Given the description of an element on the screen output the (x, y) to click on. 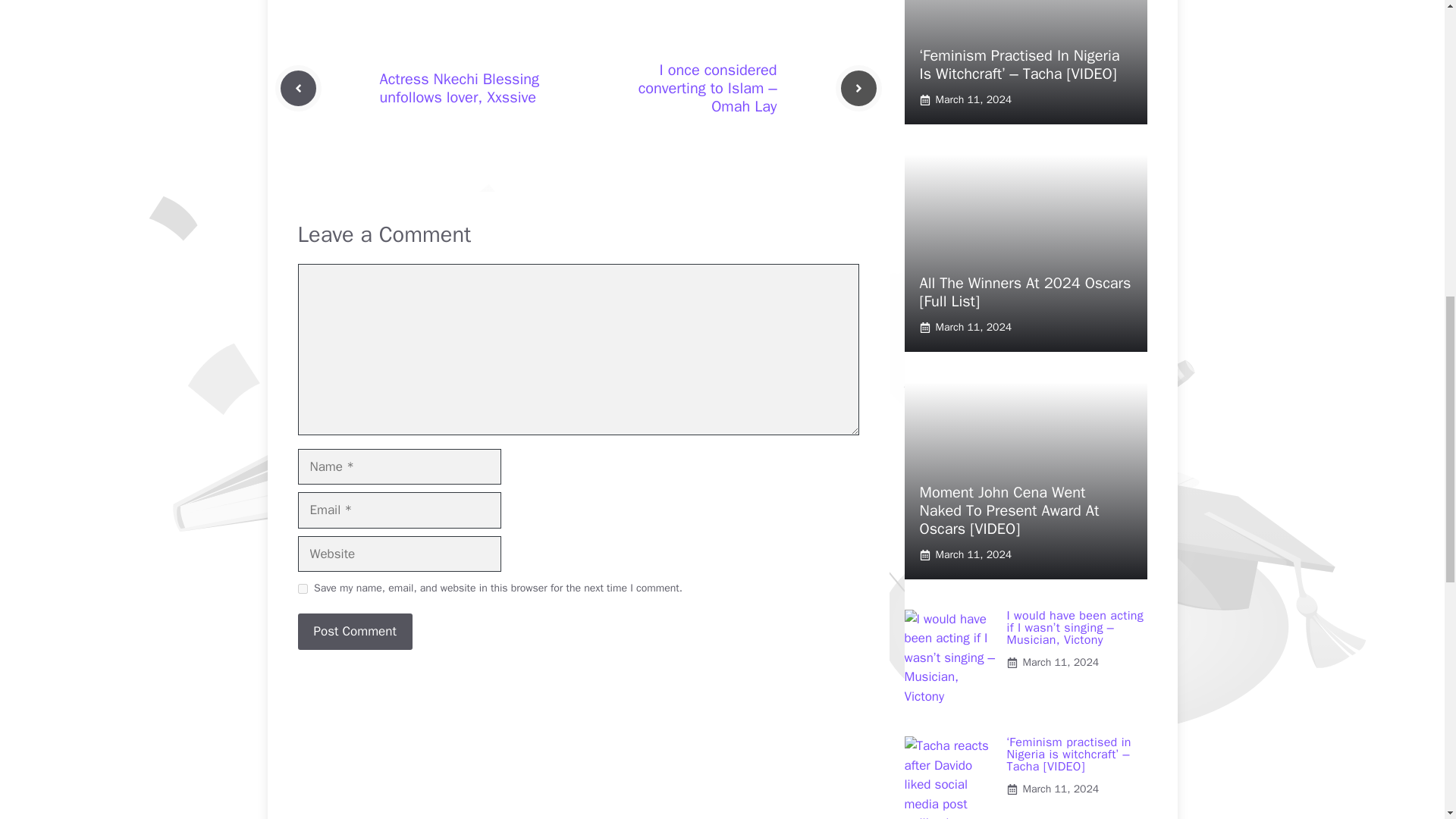
Scroll back to top (1406, 720)
Actress Nkechi Blessing unfollows lover, Xxssive (458, 88)
Post Comment (354, 631)
yes (302, 588)
Post Comment (354, 631)
